Given the description of an element on the screen output the (x, y) to click on. 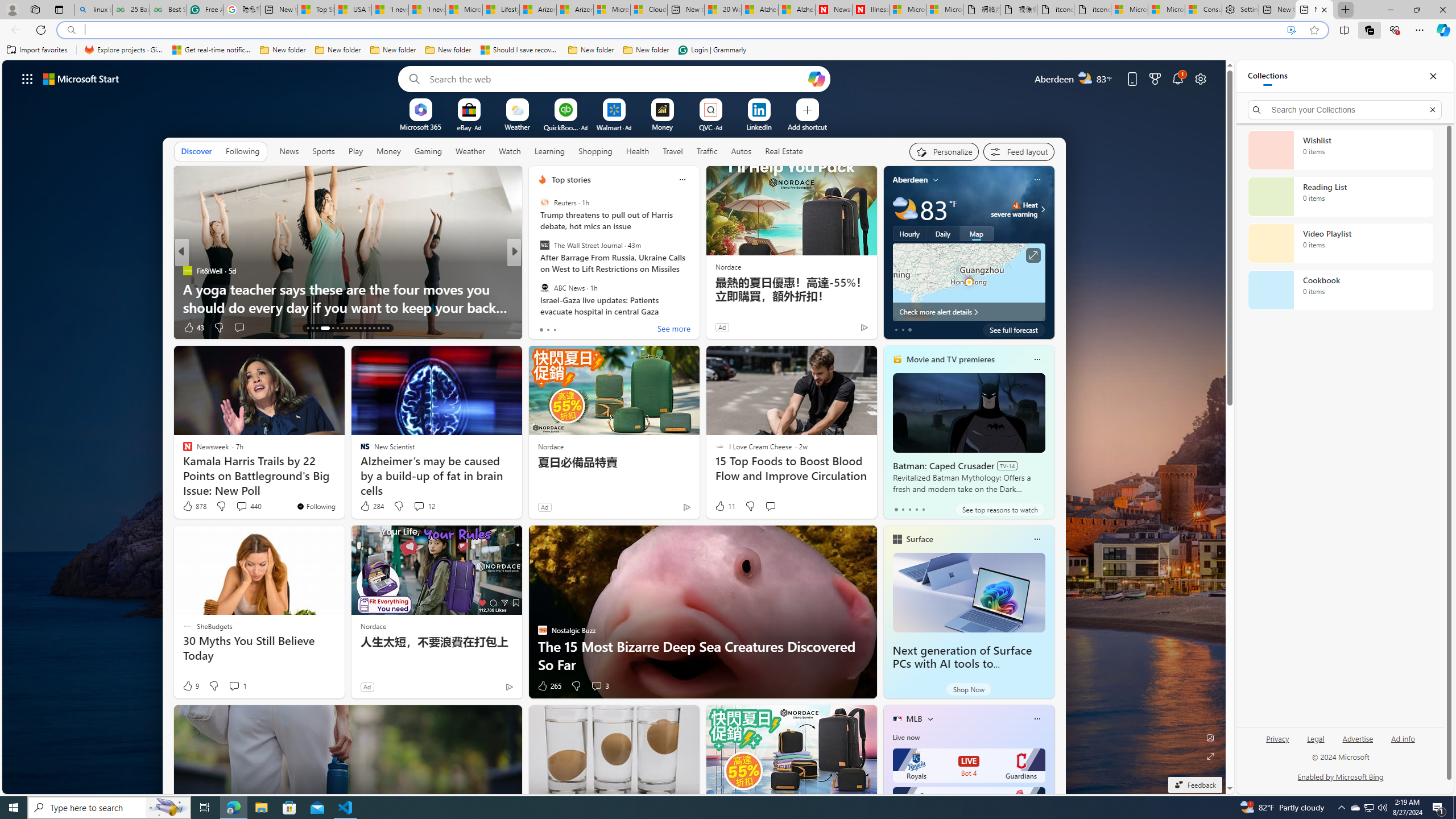
SlashGear (537, 270)
View comments 40 Comment (594, 327)
View comments 440 Comment (241, 505)
View comments 440 Comment (248, 505)
AutomationID: tab-18 (337, 328)
View comments 1 Comment (234, 685)
MLB (914, 718)
AutomationID: tab-28 (382, 328)
You're following Newsweek (315, 505)
16 Like (543, 327)
Money (388, 151)
